Given the description of an element on the screen output the (x, y) to click on. 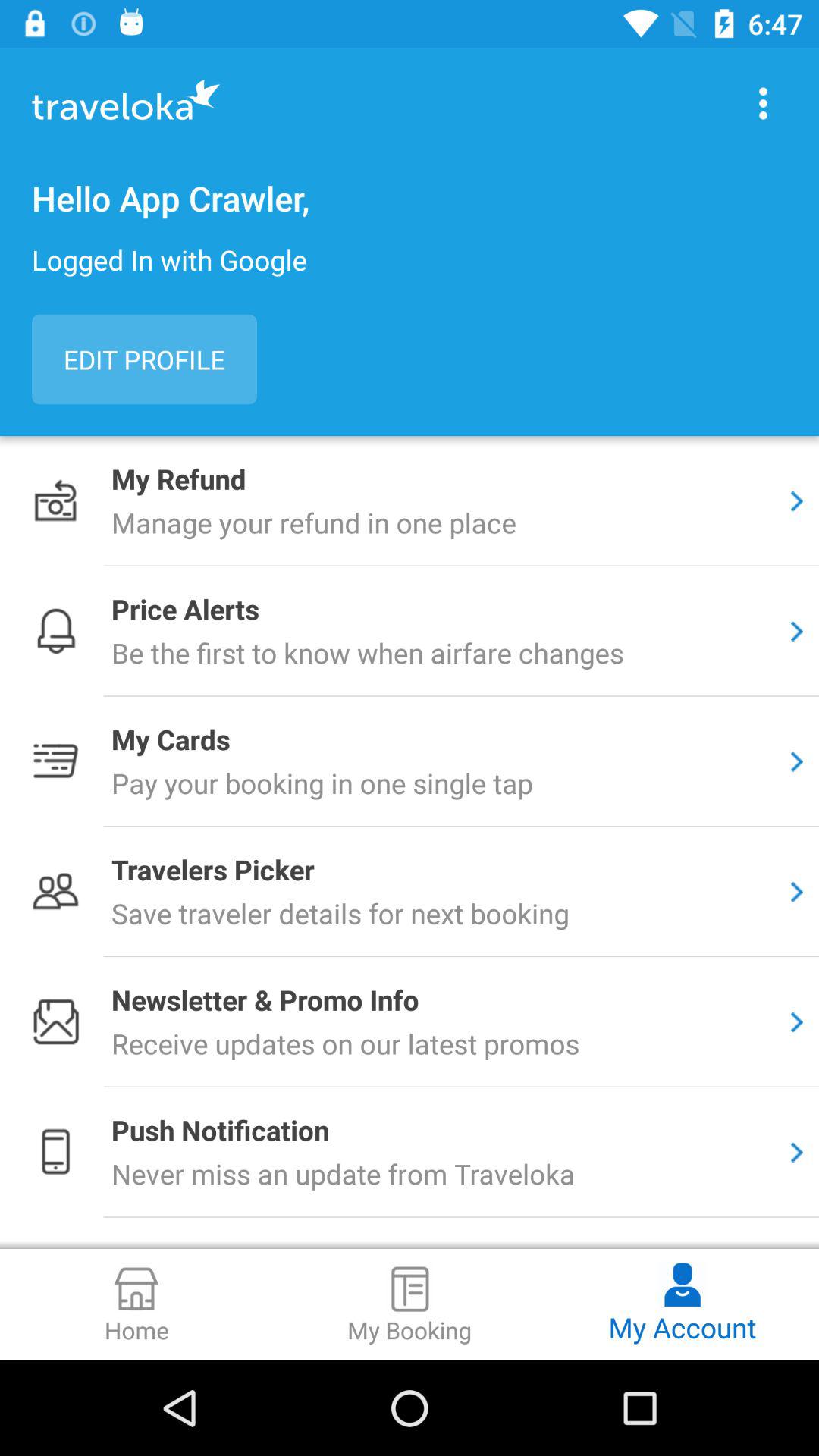
open settings (763, 103)
